Given the description of an element on the screen output the (x, y) to click on. 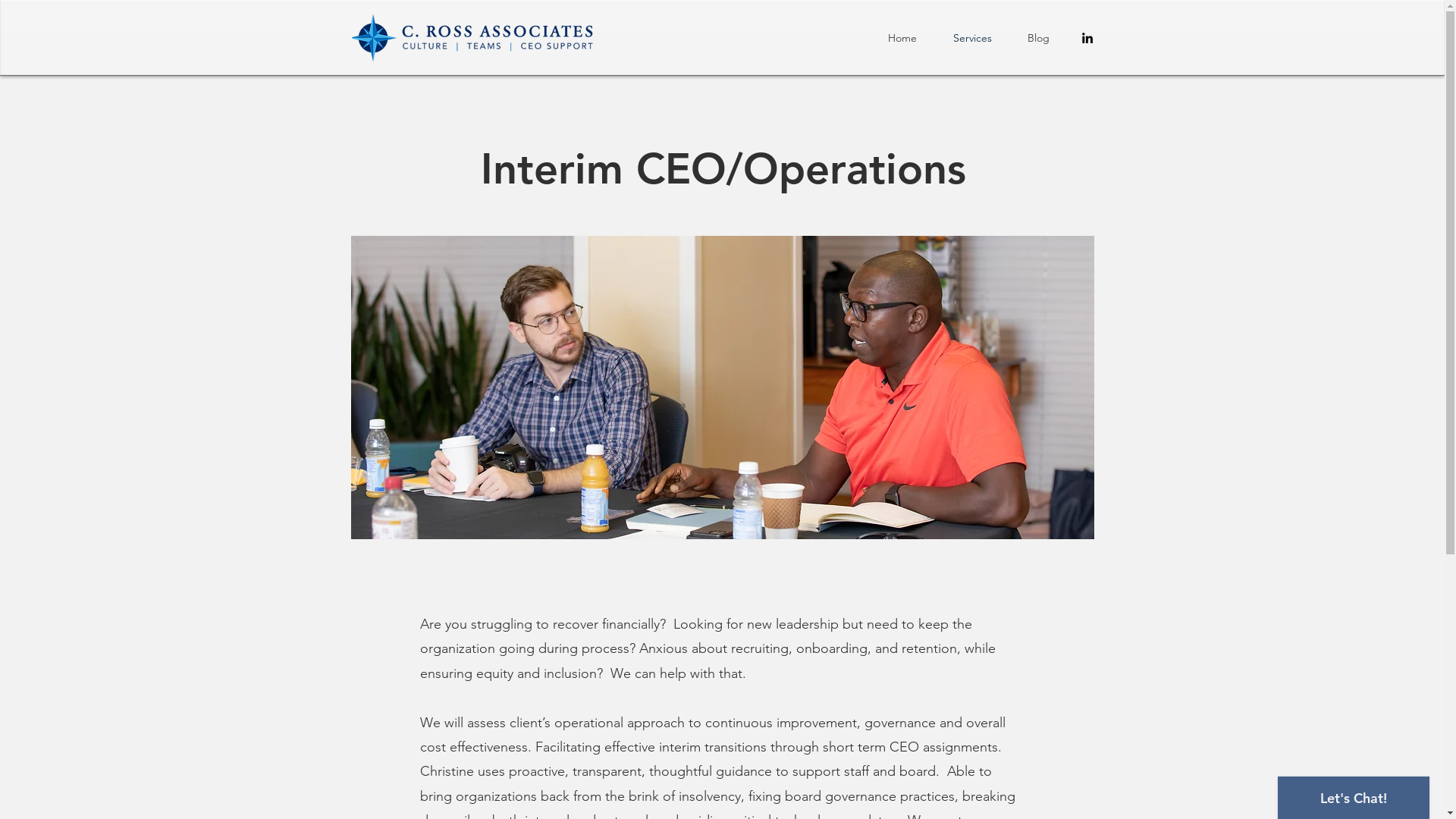
Home Element type: text (901, 37)
Services Element type: text (971, 37)
logo_2x.png Element type: hover (472, 37)
Blog Element type: text (1038, 37)
